Given the description of an element on the screen output the (x, y) to click on. 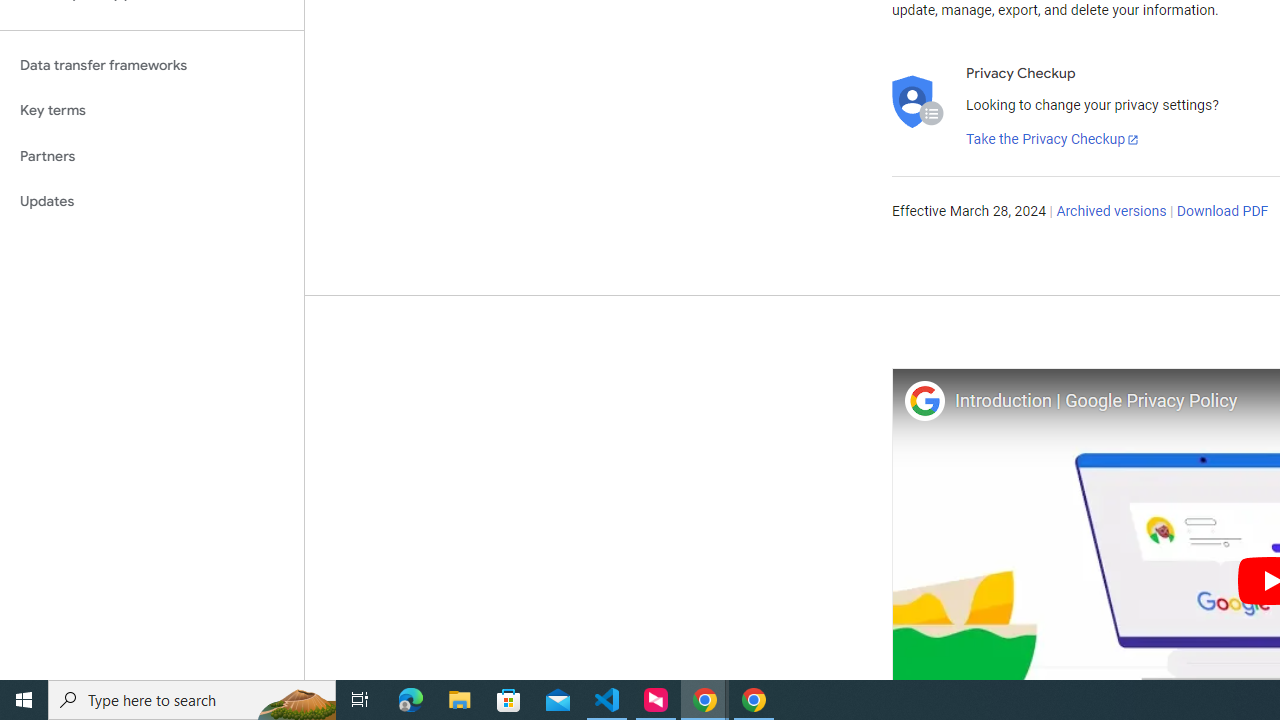
Take the Privacy Checkup (1053, 140)
Key terms (152, 110)
Photo image of Google (924, 400)
Updates (152, 201)
Archived versions (1111, 212)
Download PDF (1222, 212)
Partners (152, 156)
Data transfer frameworks (152, 65)
